Given the description of an element on the screen output the (x, y) to click on. 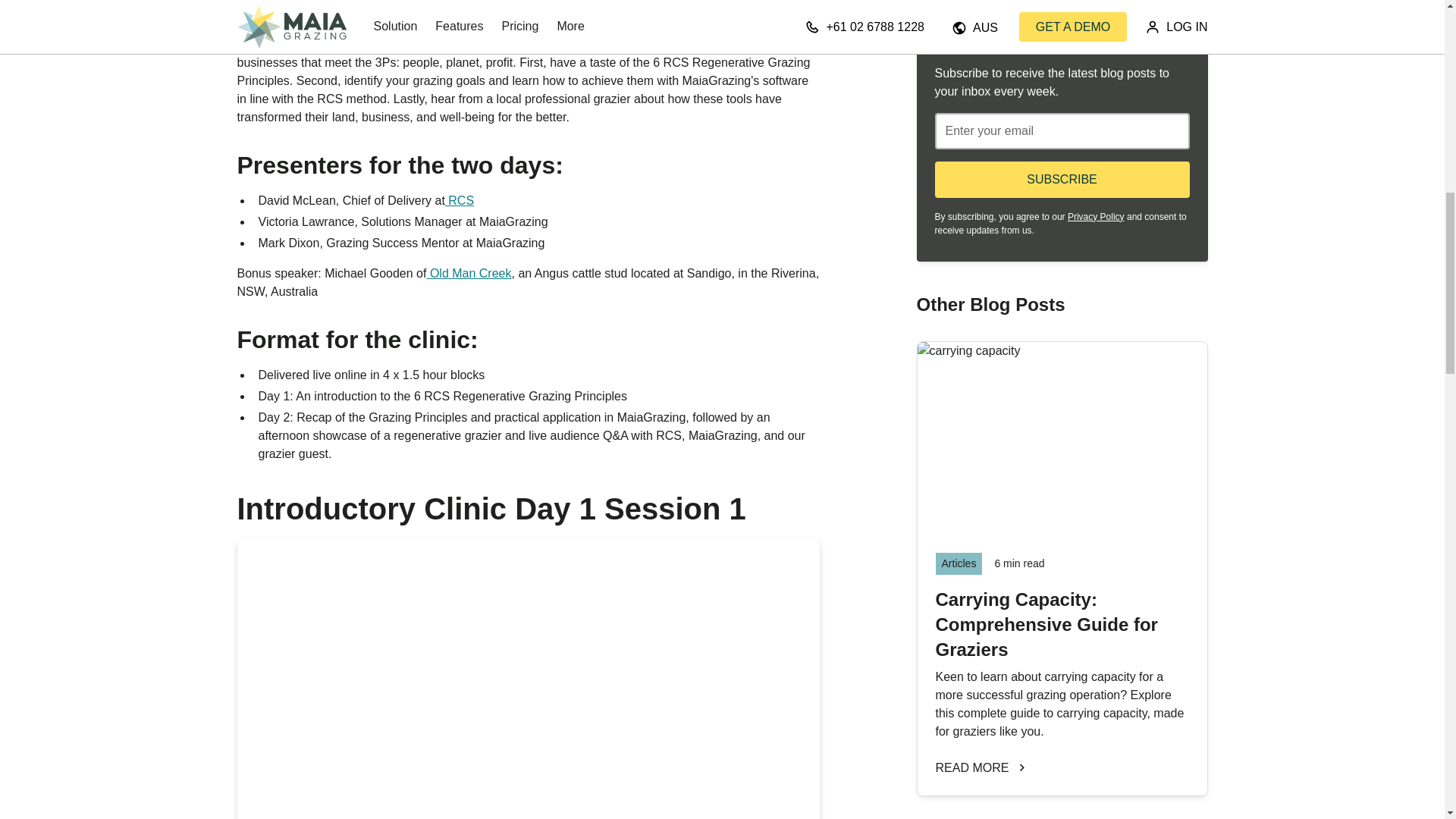
SUBSCRIBE (1061, 179)
RCS (459, 200)
Privacy Policy (1095, 216)
Old Man Creek (468, 273)
SUBSCRIBE (1061, 179)
